Given the description of an element on the screen output the (x, y) to click on. 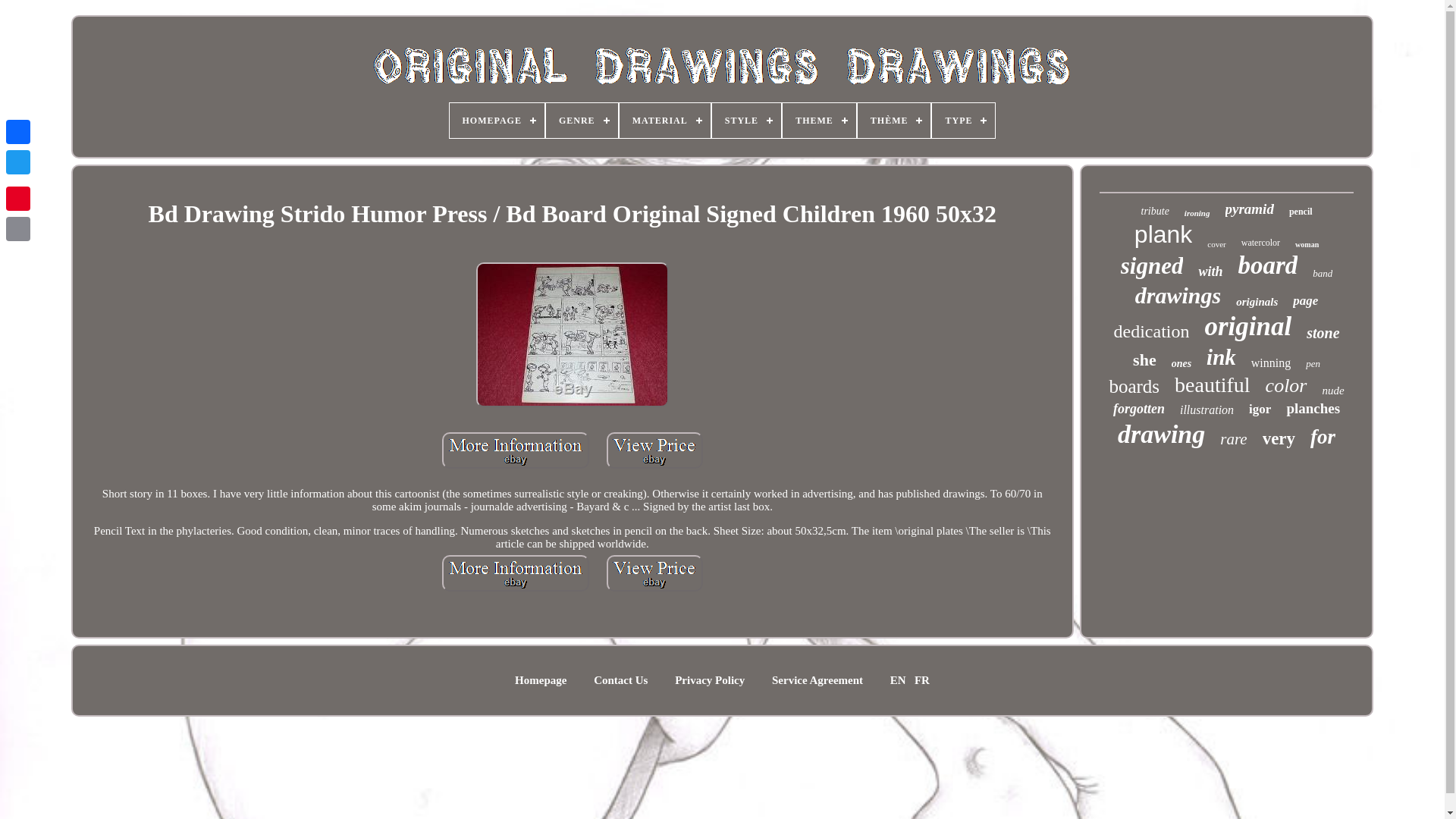
GENRE (581, 120)
STYLE (745, 120)
MATERIAL (665, 120)
HOMEPAGE (495, 120)
